Given the description of an element on the screen output the (x, y) to click on. 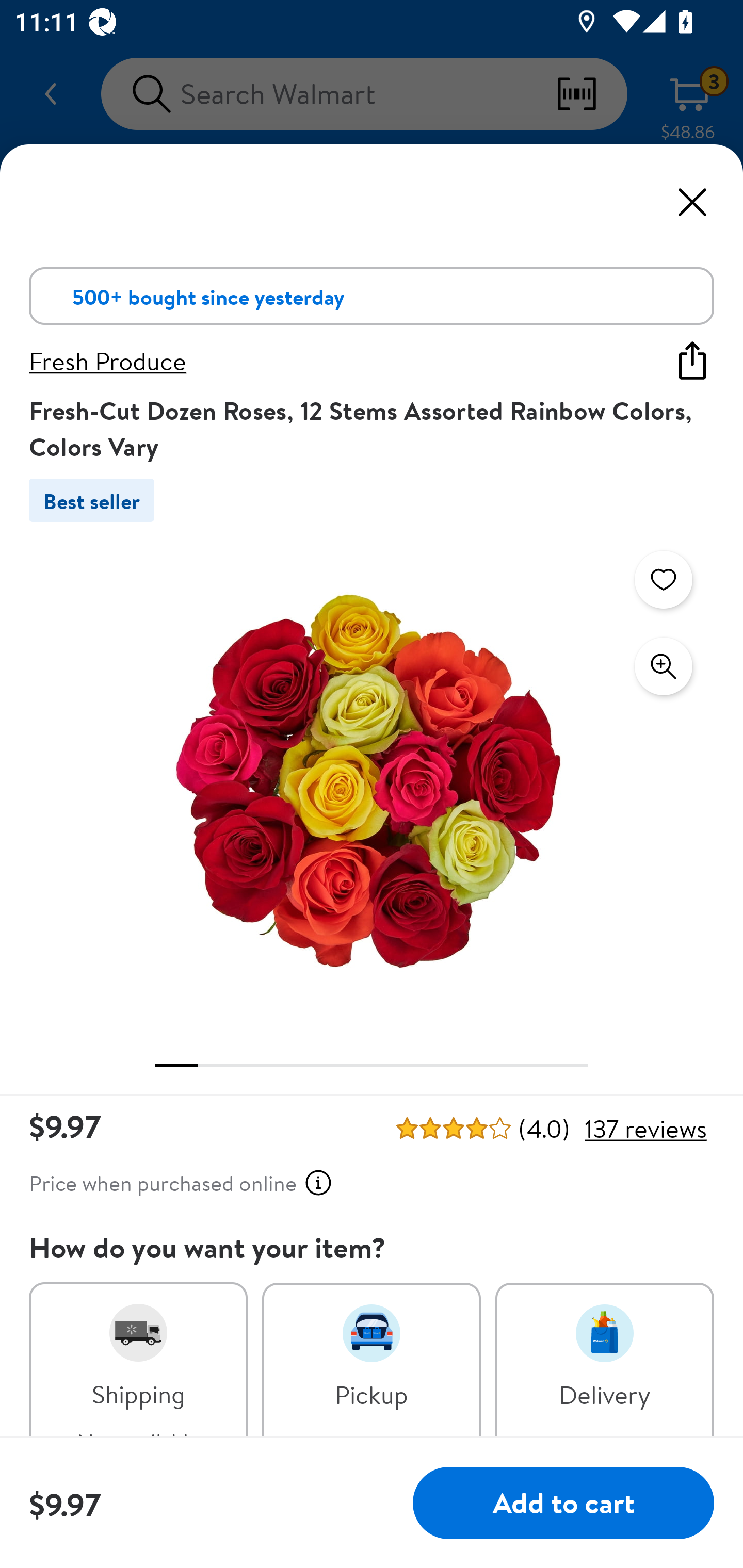
Close (692, 202)
Fresh Produce Fresh Produce brand of the product (334, 360)
Share item (692, 360)
Image 1 of 10 (371, 781)
Zoom button (663, 666)
137 reviews (645, 1128)
Price when purchased online (180, 1182)
Pickup, , , button Pickup (371, 1359)
Delivery, , , button Delivery (604, 1359)
Add to cart (563, 1503)
